Given the description of an element on the screen output the (x, y) to click on. 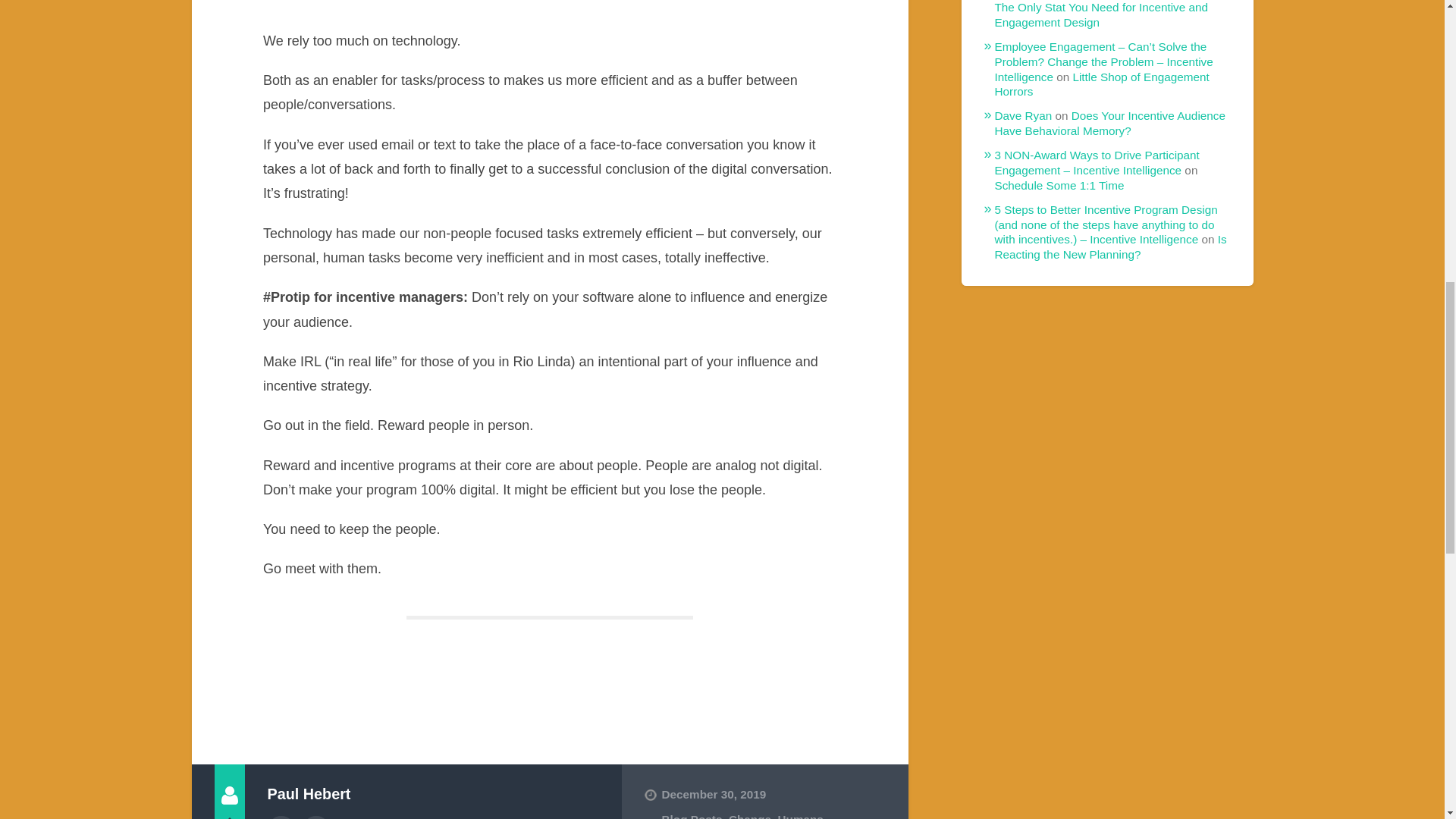
Change (750, 816)
Author website (316, 817)
Blog Posts (691, 816)
The Only Stat You Need for Incentive and Engagement Design (1101, 14)
Little Shop of Engagement Horrors (1101, 84)
Humans (799, 816)
Author archive (280, 817)
